Given the description of an element on the screen output the (x, y) to click on. 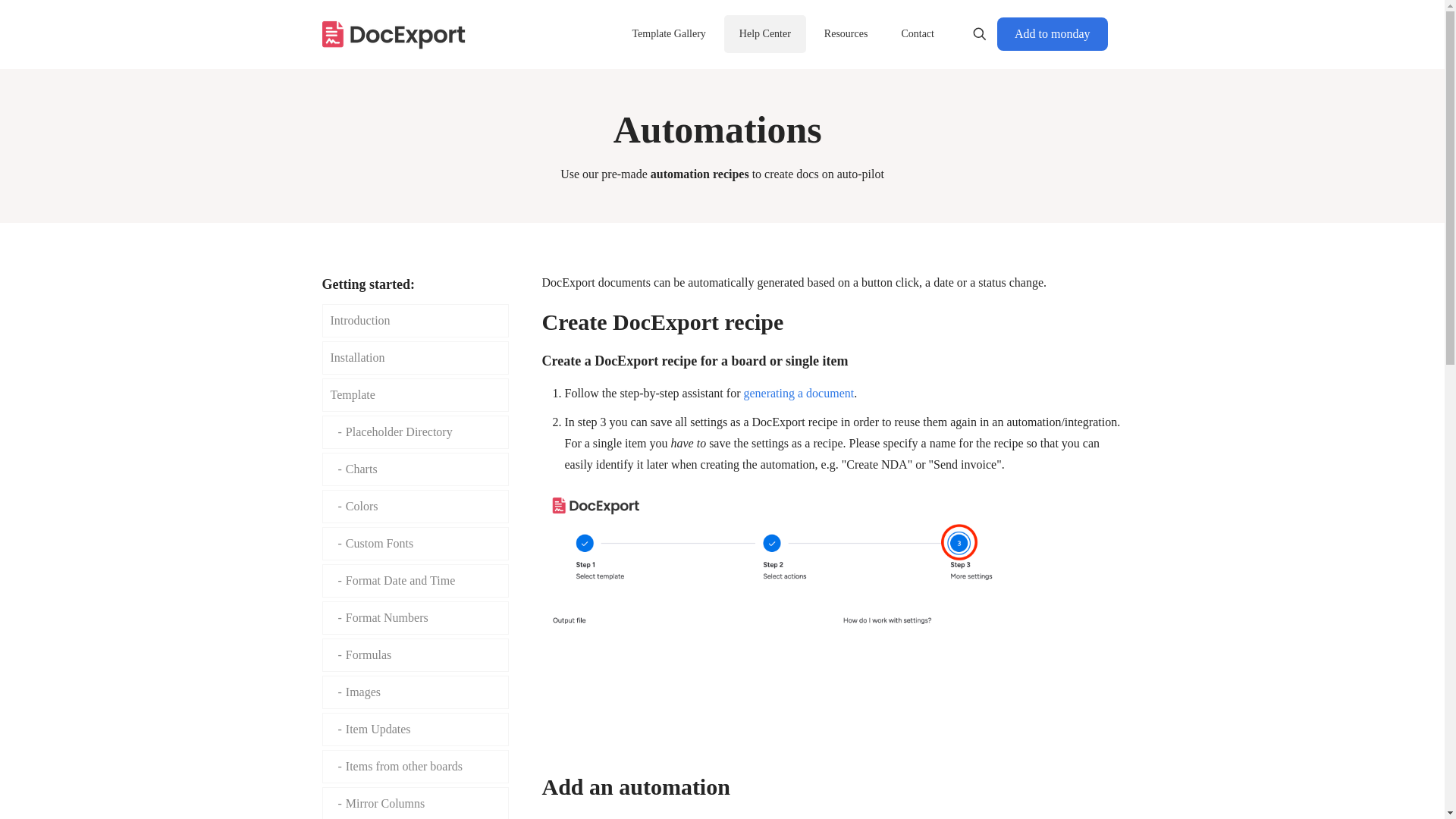
Format Numbers (414, 617)
Mirror Columns (414, 803)
Formulas (414, 654)
DocExport PDF Generator for monday.com (393, 33)
Items from other boards (414, 766)
Installation (414, 357)
Add to monday (1052, 33)
Colors (414, 506)
Images (414, 692)
Template (414, 394)
Placeholder Directory (414, 431)
Contact (917, 34)
Format Date and Time (414, 580)
generating a document (796, 392)
Introduction (414, 320)
